Given the description of an element on the screen output the (x, y) to click on. 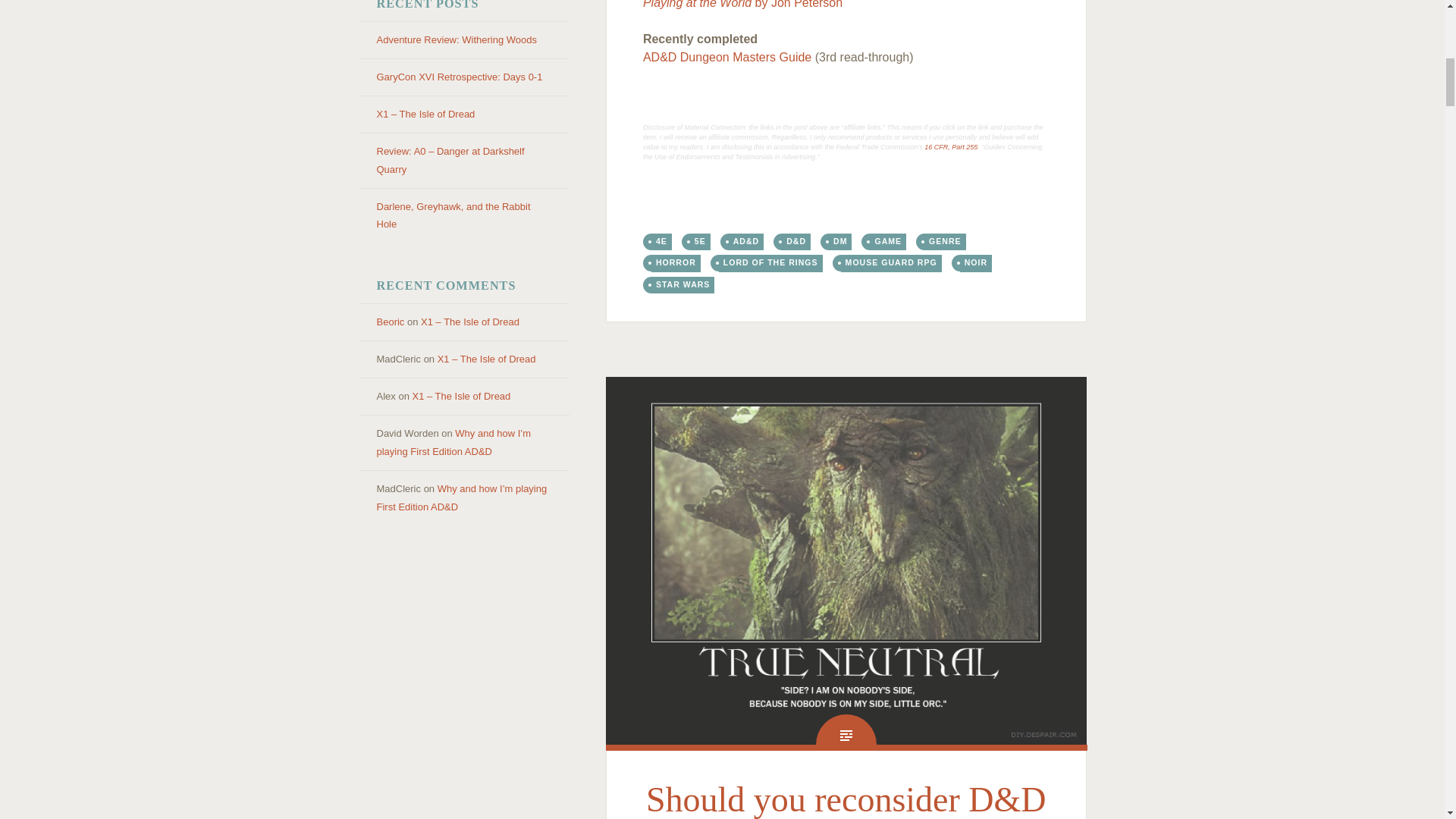
4E (660, 241)
Adventure Review: Withering Woods (455, 39)
Playing at the World by Jon Peterson (743, 4)
Darlene, Greyhawk, and the Rabbit Hole (452, 214)
GaryCon XVI Retrospective: Days 0-1 (458, 76)
Beoric (389, 321)
5E (700, 241)
16 CFR, Part 255 (950, 146)
